Given the description of an element on the screen output the (x, y) to click on. 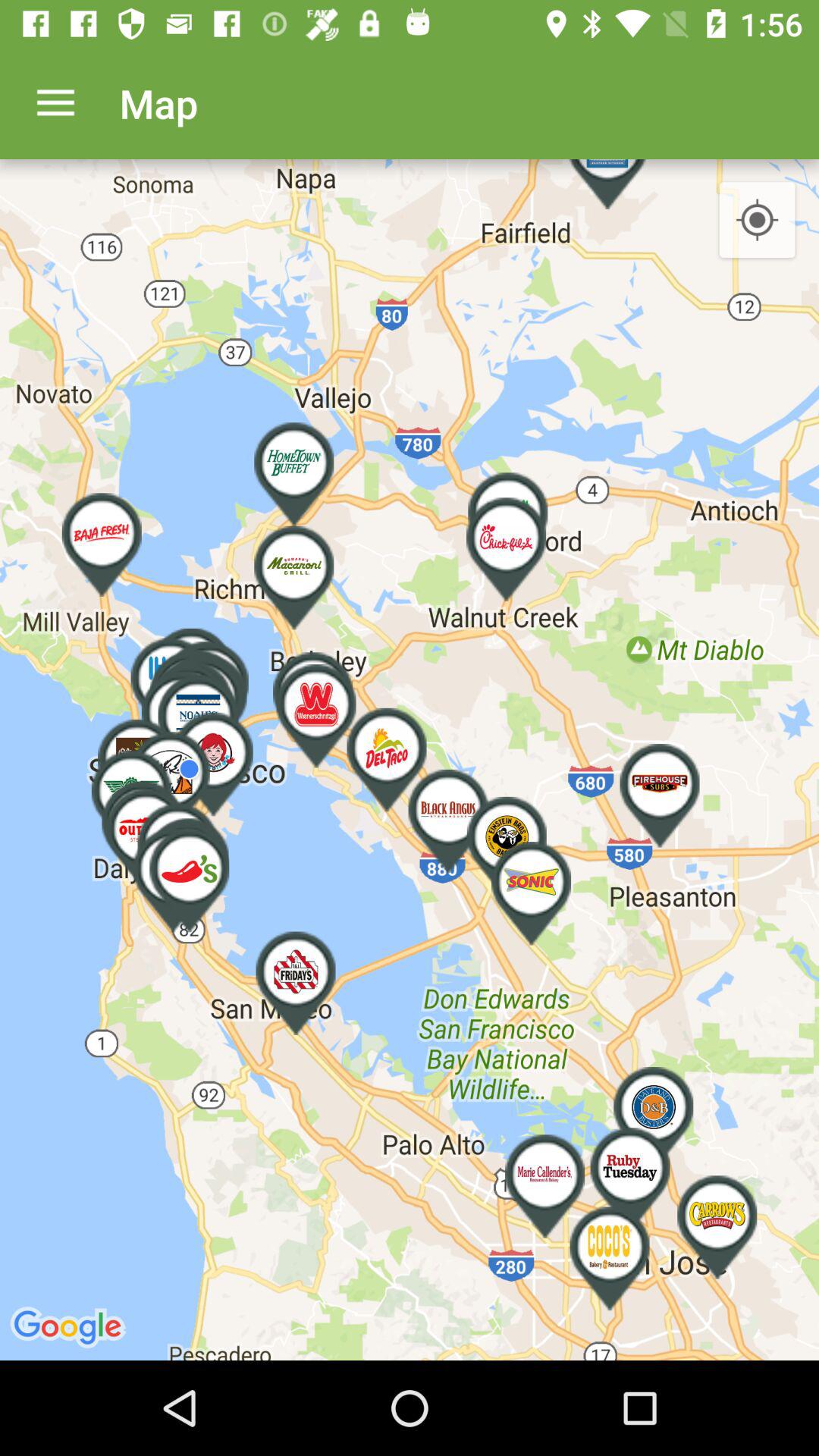
select the icon at the center (409, 759)
